Given the description of an element on the screen output the (x, y) to click on. 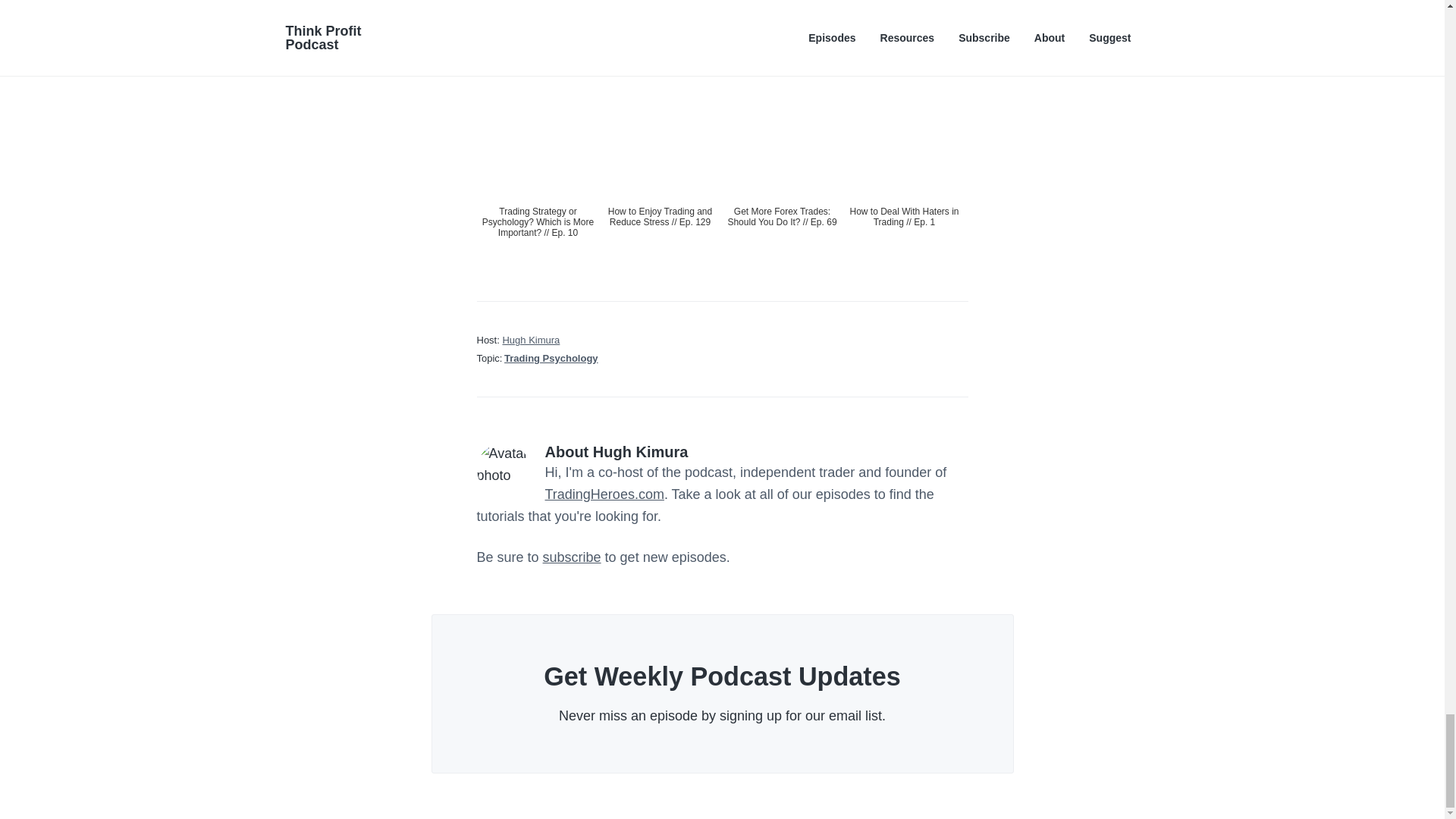
subscribe (572, 557)
TradingHeroes.com (603, 494)
Trading Psychology (550, 358)
Hugh Kimura (530, 339)
